Given the description of an element on the screen output the (x, y) to click on. 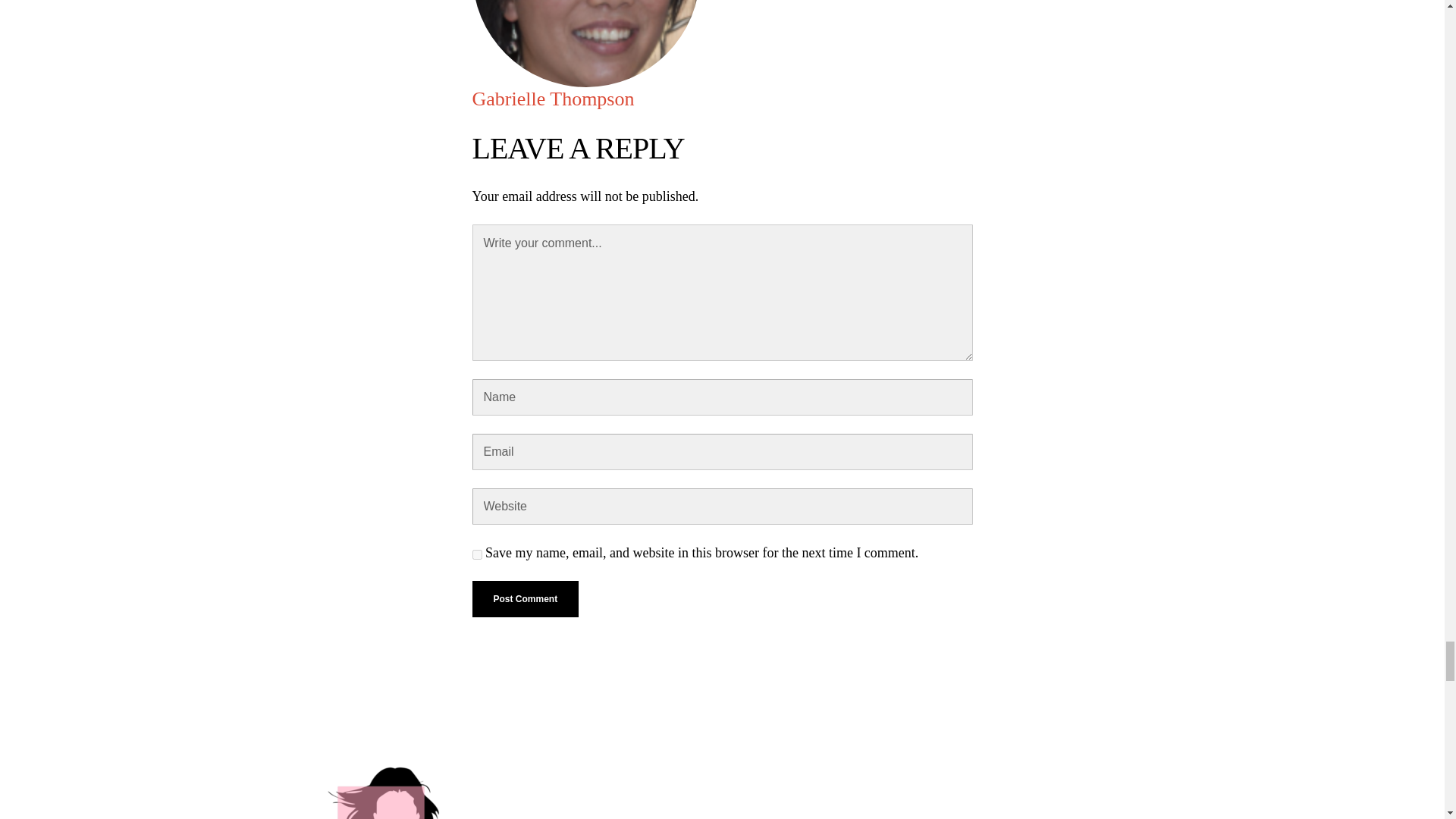
yes (476, 554)
Post Comment (524, 598)
